Given the description of an element on the screen output the (x, y) to click on. 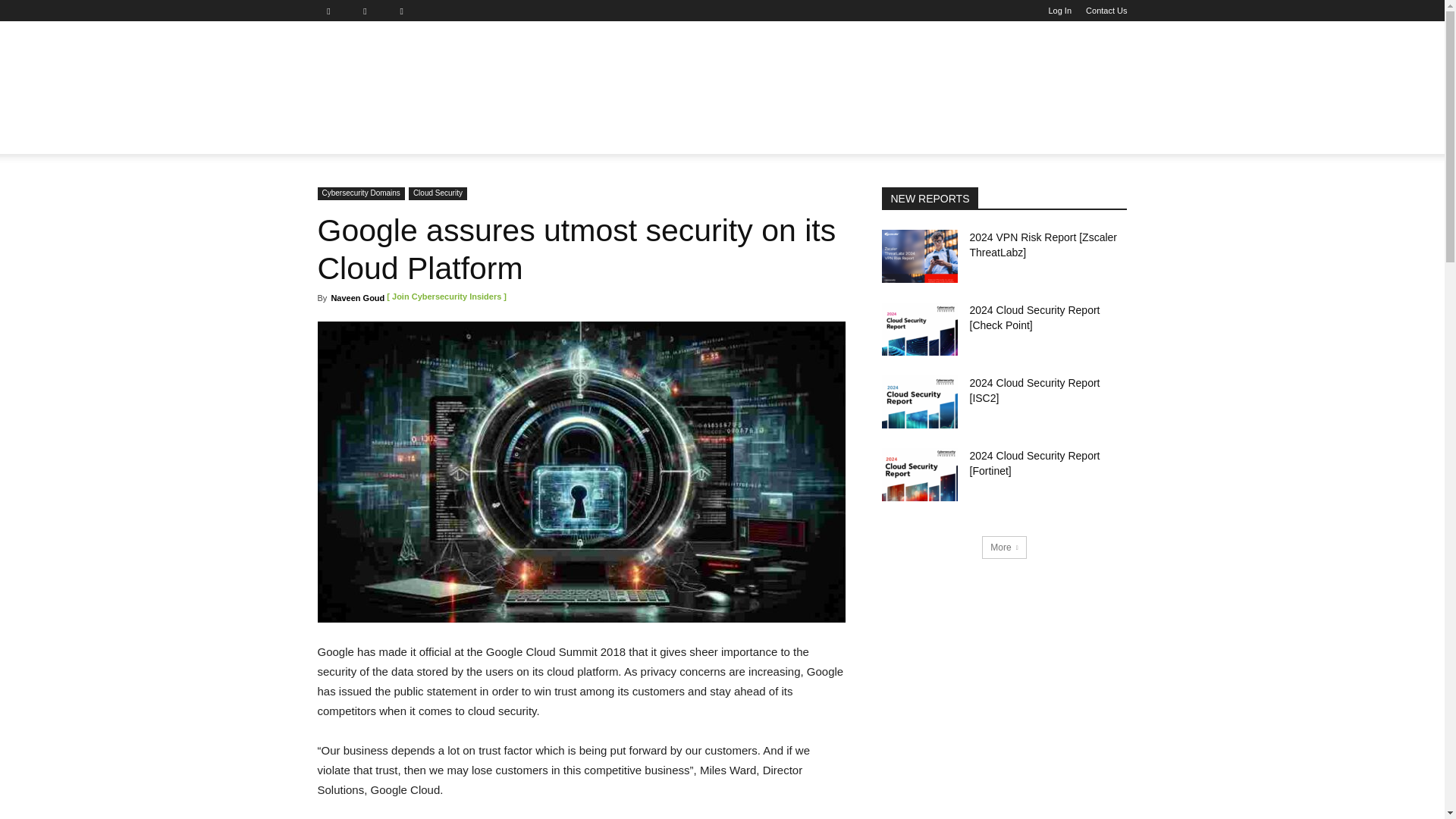
Facebook (333, 10)
Contact Us (1106, 10)
Linkedin (370, 10)
NEWS (343, 135)
News (343, 135)
Log In (1059, 10)
Advertisement (829, 76)
Twitter (407, 10)
